Given the description of an element on the screen output the (x, y) to click on. 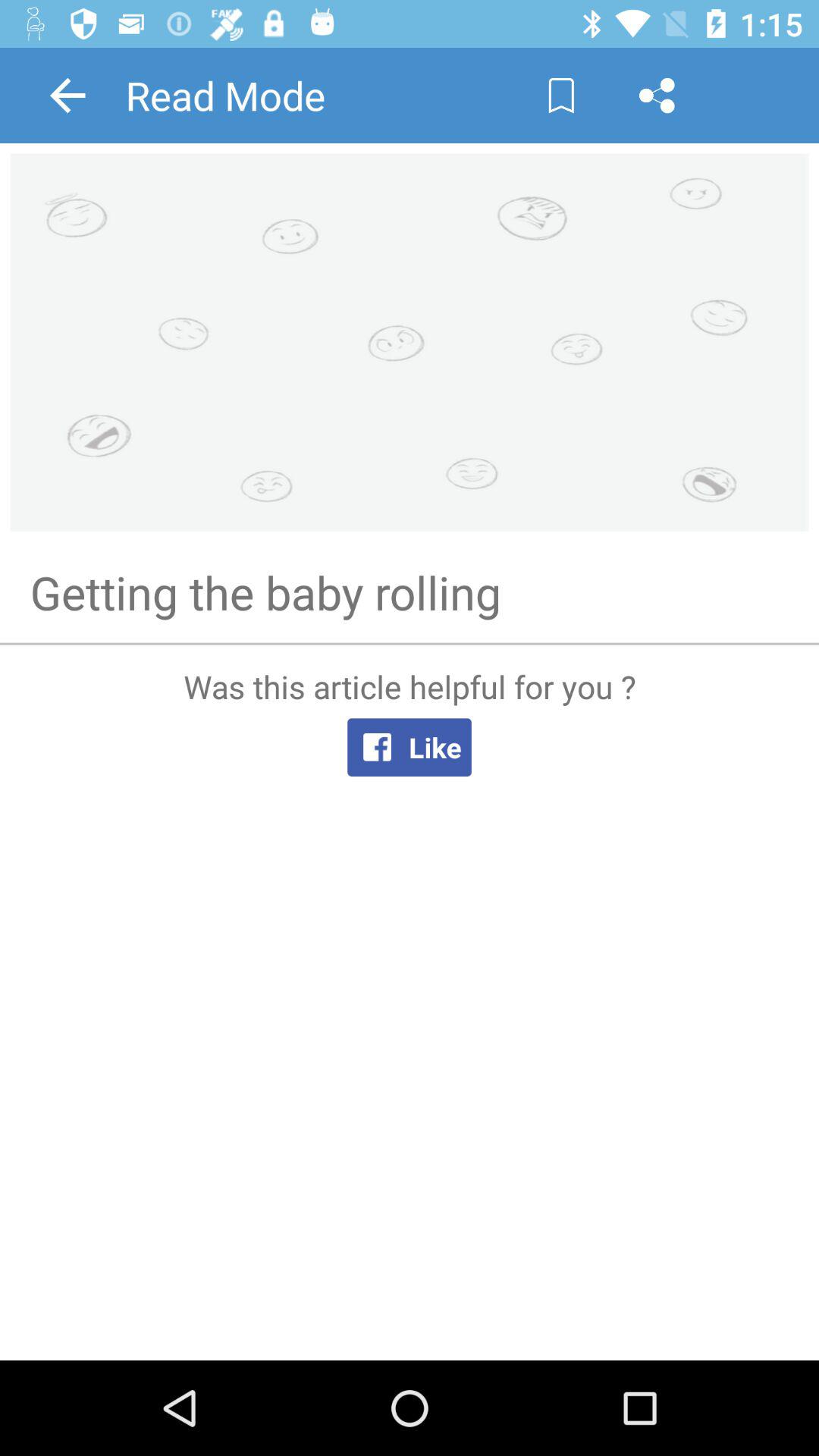
menu button (656, 95)
